Given the description of an element on the screen output the (x, y) to click on. 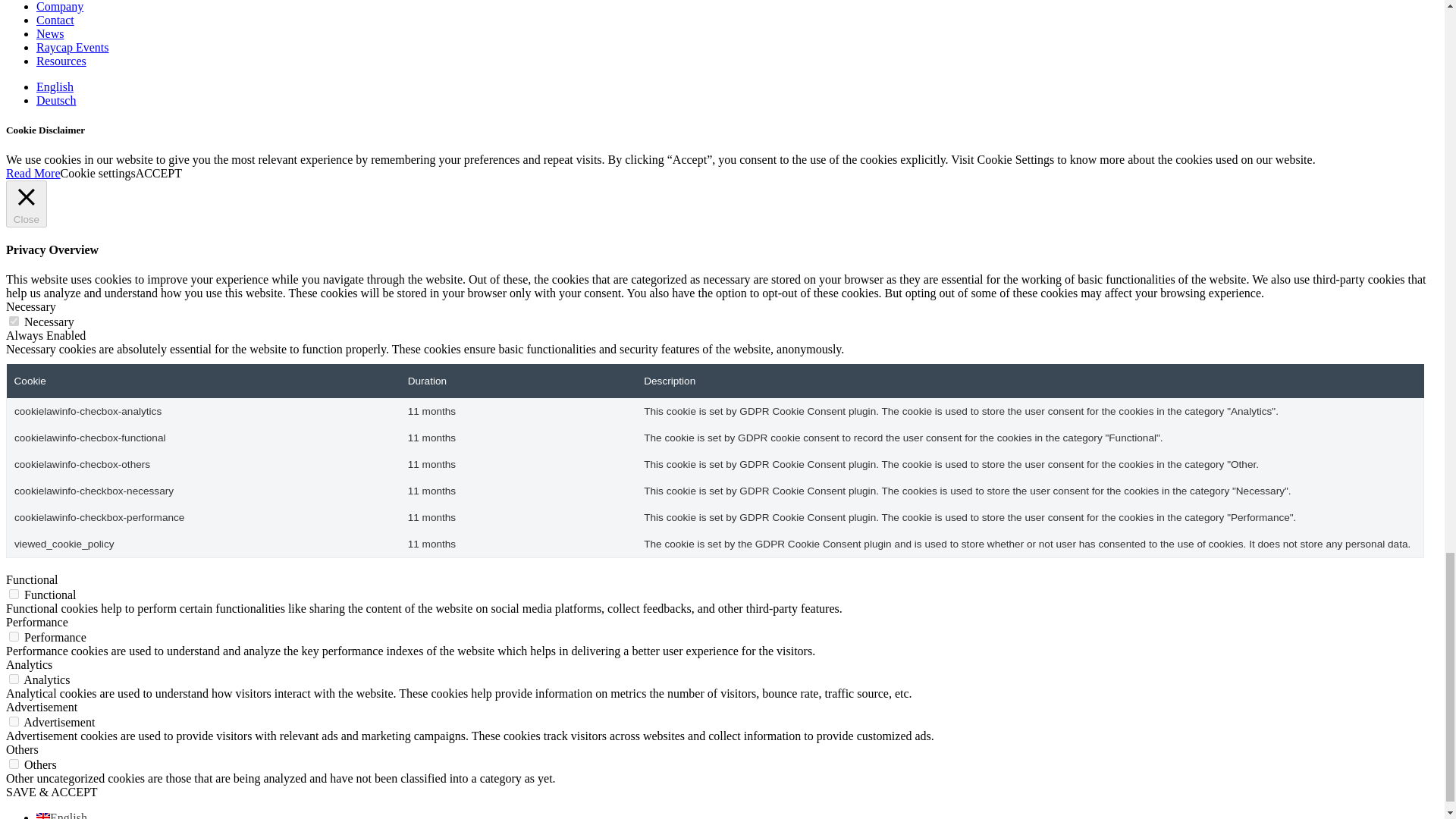
on (13, 636)
on (13, 764)
on (13, 593)
on (13, 721)
on (13, 678)
on (13, 320)
